Given the description of an element on the screen output the (x, y) to click on. 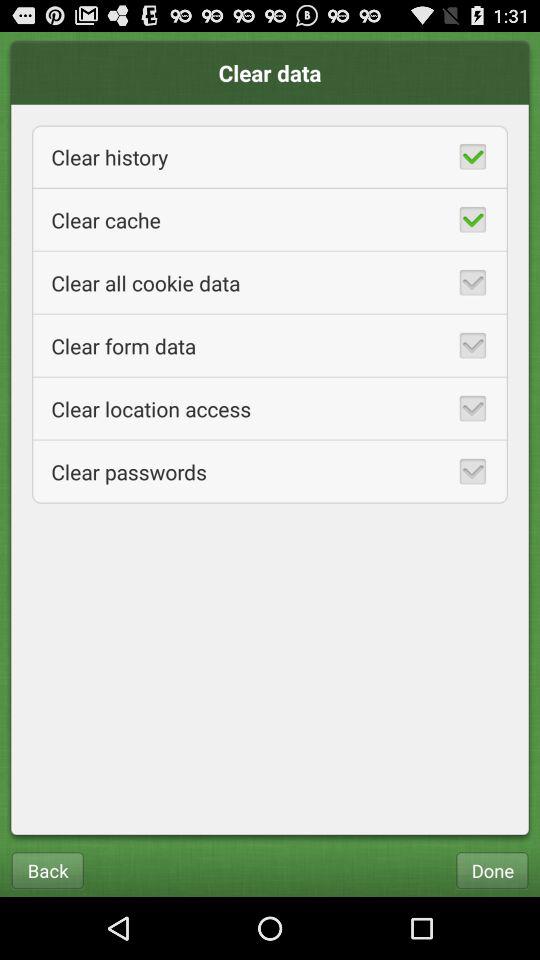
jump until the clear location access item (269, 408)
